Given the description of an element on the screen output the (x, y) to click on. 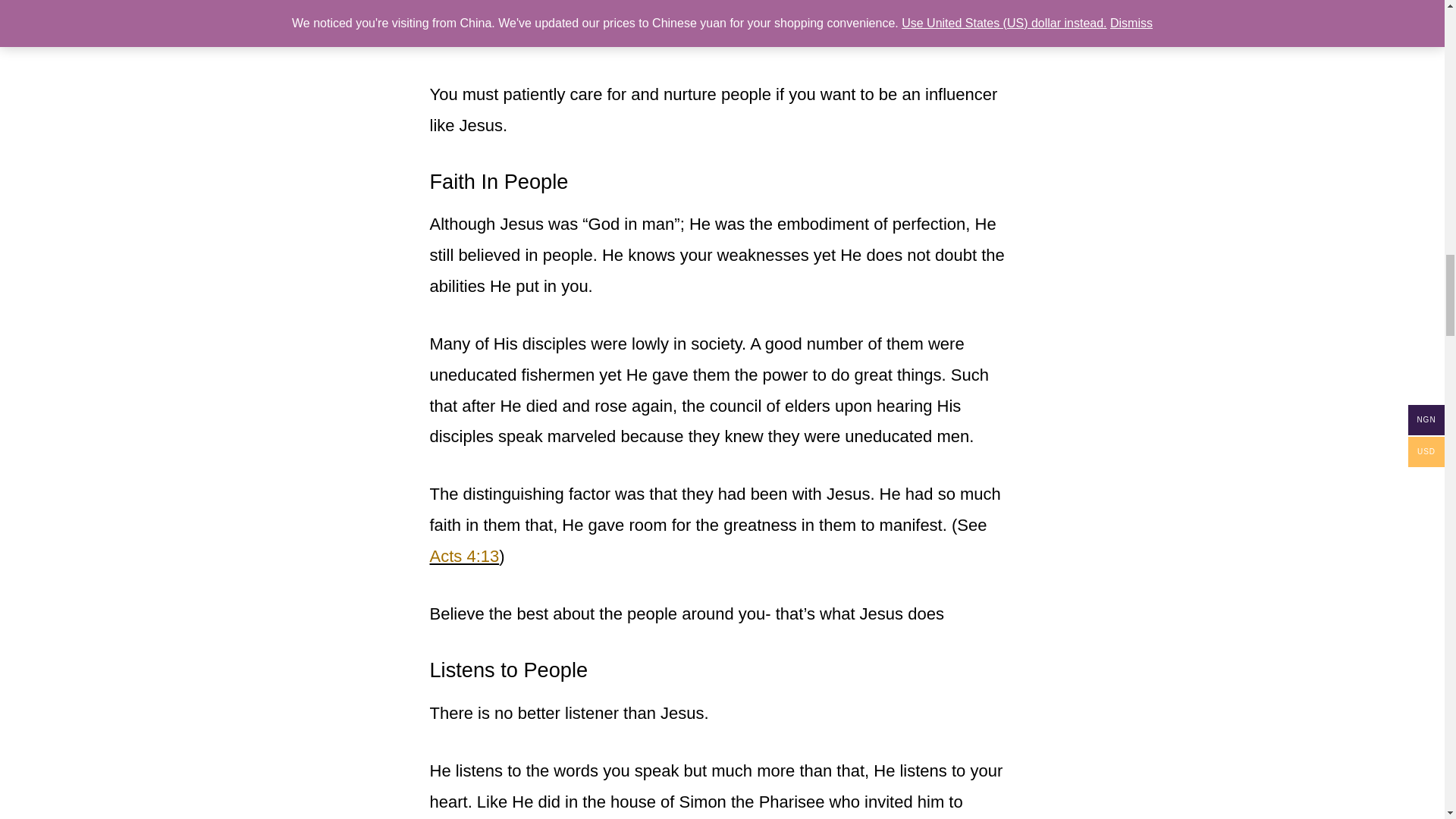
Matthew 14:1-21 (577, 36)
Acts 4:13 (464, 556)
